Given the description of an element on the screen output the (x, y) to click on. 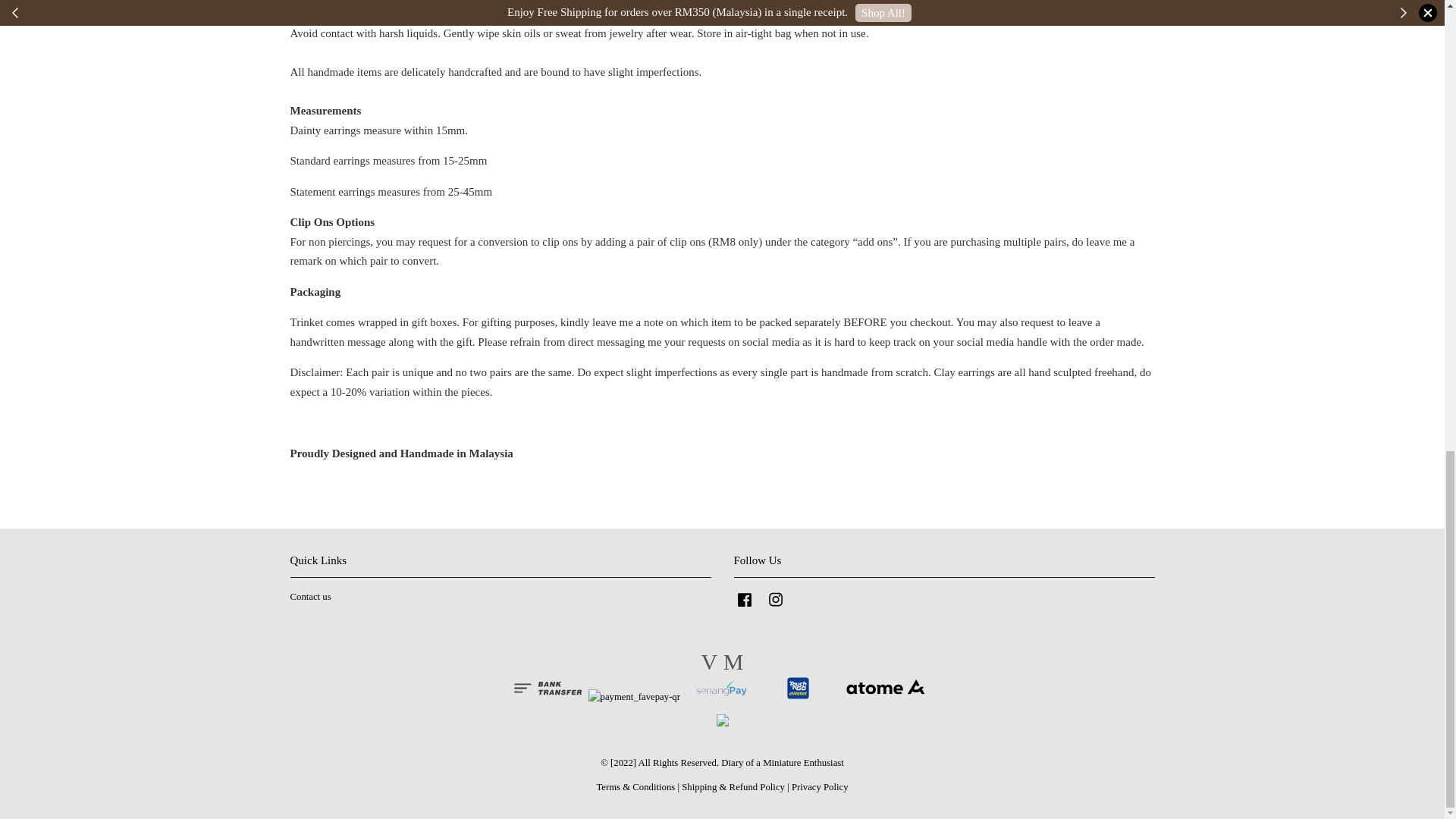
icon-facebook (744, 599)
Diary of a Miniature Enthusiast on Instagram (775, 606)
Diary of a Miniature Enthusiast on Facebook (744, 606)
icon-instagram (775, 599)
